Given the description of an element on the screen output the (x, y) to click on. 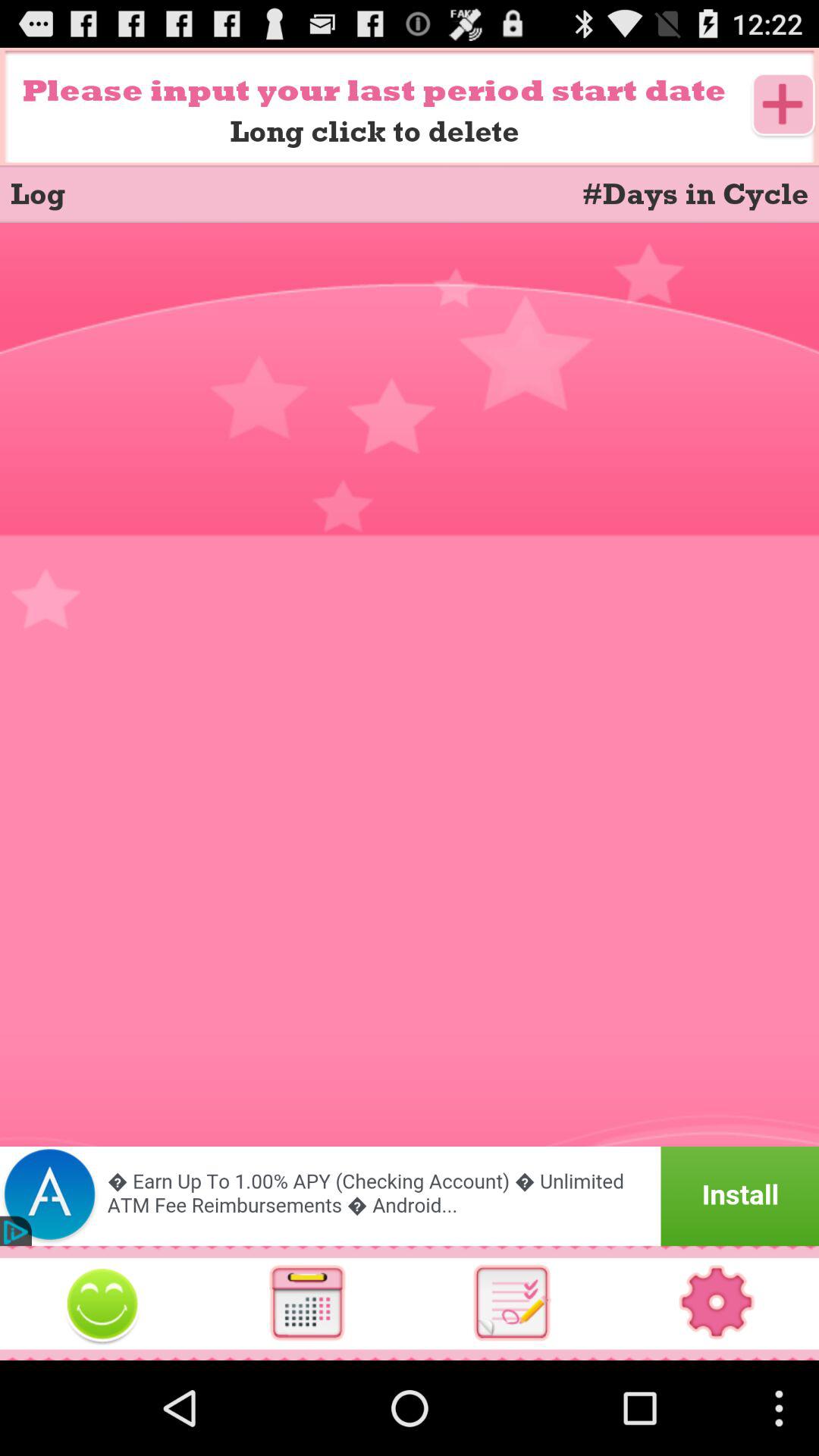
advertisement (409, 1196)
